Given the description of an element on the screen output the (x, y) to click on. 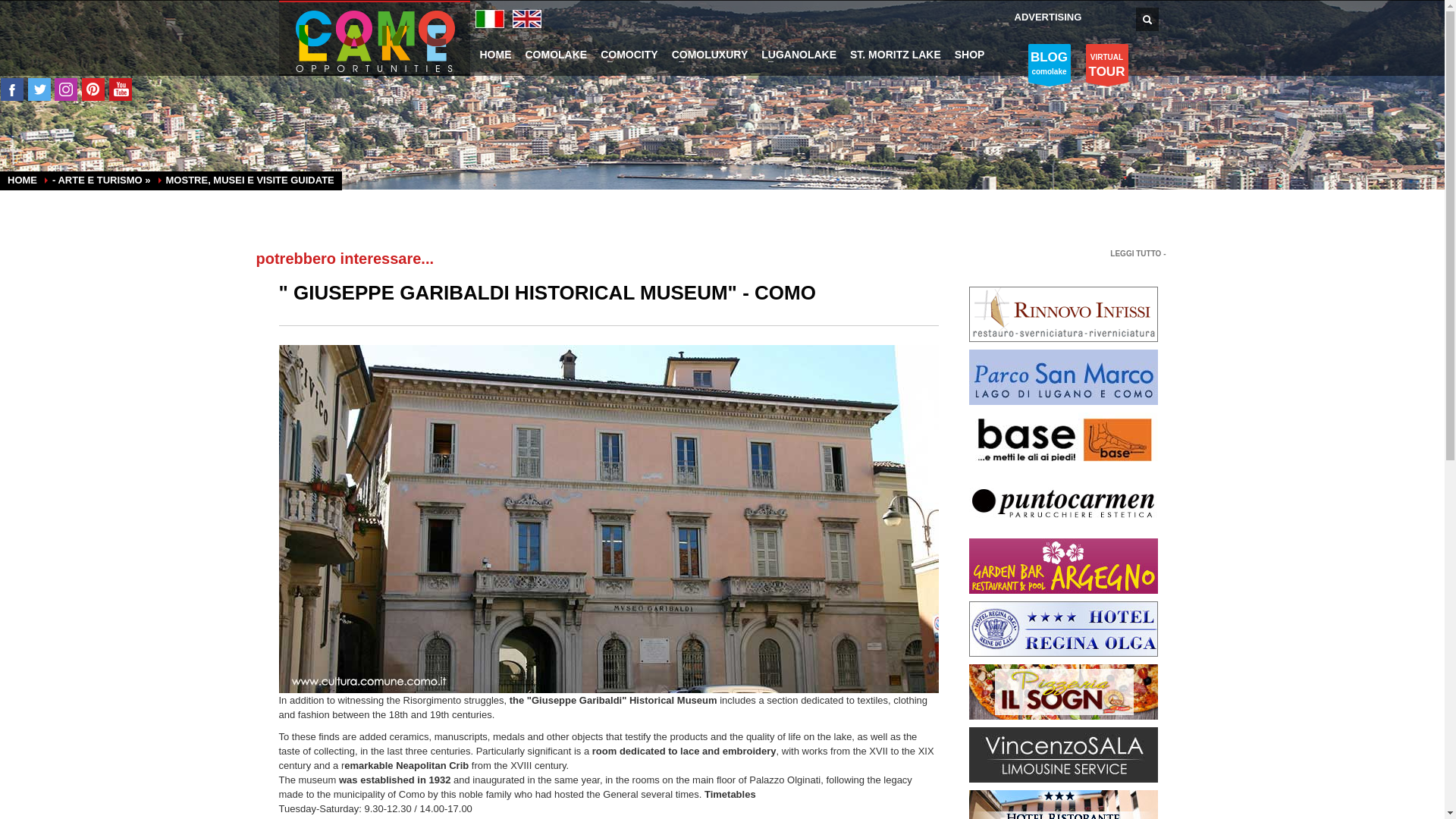
Pizzeria il sogno (1107, 63)
Puntocarmen (1063, 690)
HOME (1063, 501)
rinnovo infissi (494, 54)
Hotel Ristorante Tre Re (1048, 63)
Partners Advertising and Web (1063, 313)
Click to return to Comolake.com homepage (1063, 815)
BASE BY MARTINO RONZONI (1047, 17)
hotel regina olga (375, 40)
LIDO DI ARGEGNO (1063, 439)
Vincenzo Sala (1063, 627)
ADVERTISING (1063, 564)
